Given the description of an element on the screen output the (x, y) to click on. 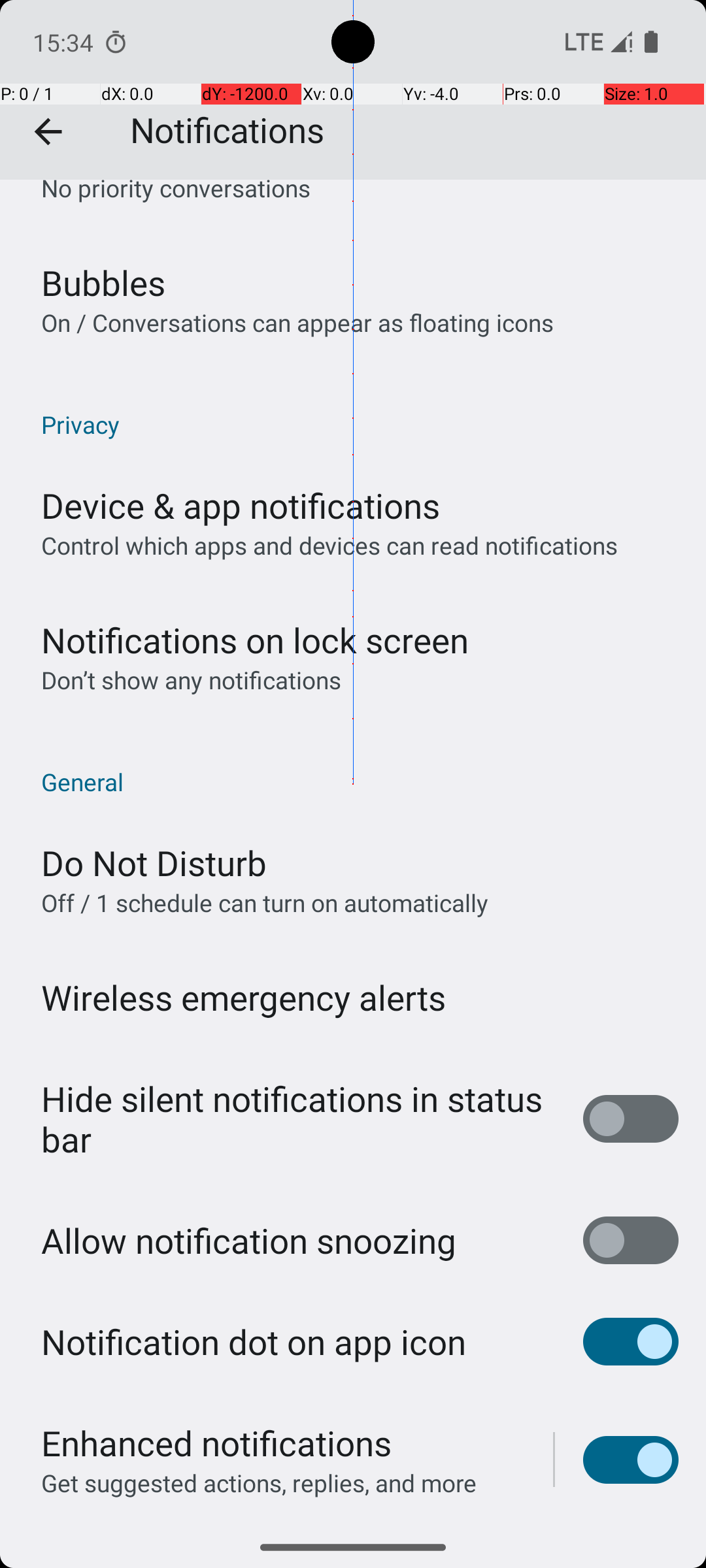
Don’t show any notifications Element type: android.widget.TextView (191, 679)
Off / 1 schedule can turn on automatically Element type: android.widget.TextView (264, 902)
Wireless emergency alerts Element type: android.widget.TextView (243, 997)
Hide silent notifications in status bar Element type: android.widget.TextView (298, 1118)
Allow notification snoozing Element type: android.widget.TextView (248, 1240)
Notification dot on app icon Element type: android.widget.TextView (253, 1341)
Enhanced notifications Element type: android.widget.TextView (216, 1442)
Get suggested actions, replies, and more Element type: android.widget.TextView (259, 1482)
